Given the description of an element on the screen output the (x, y) to click on. 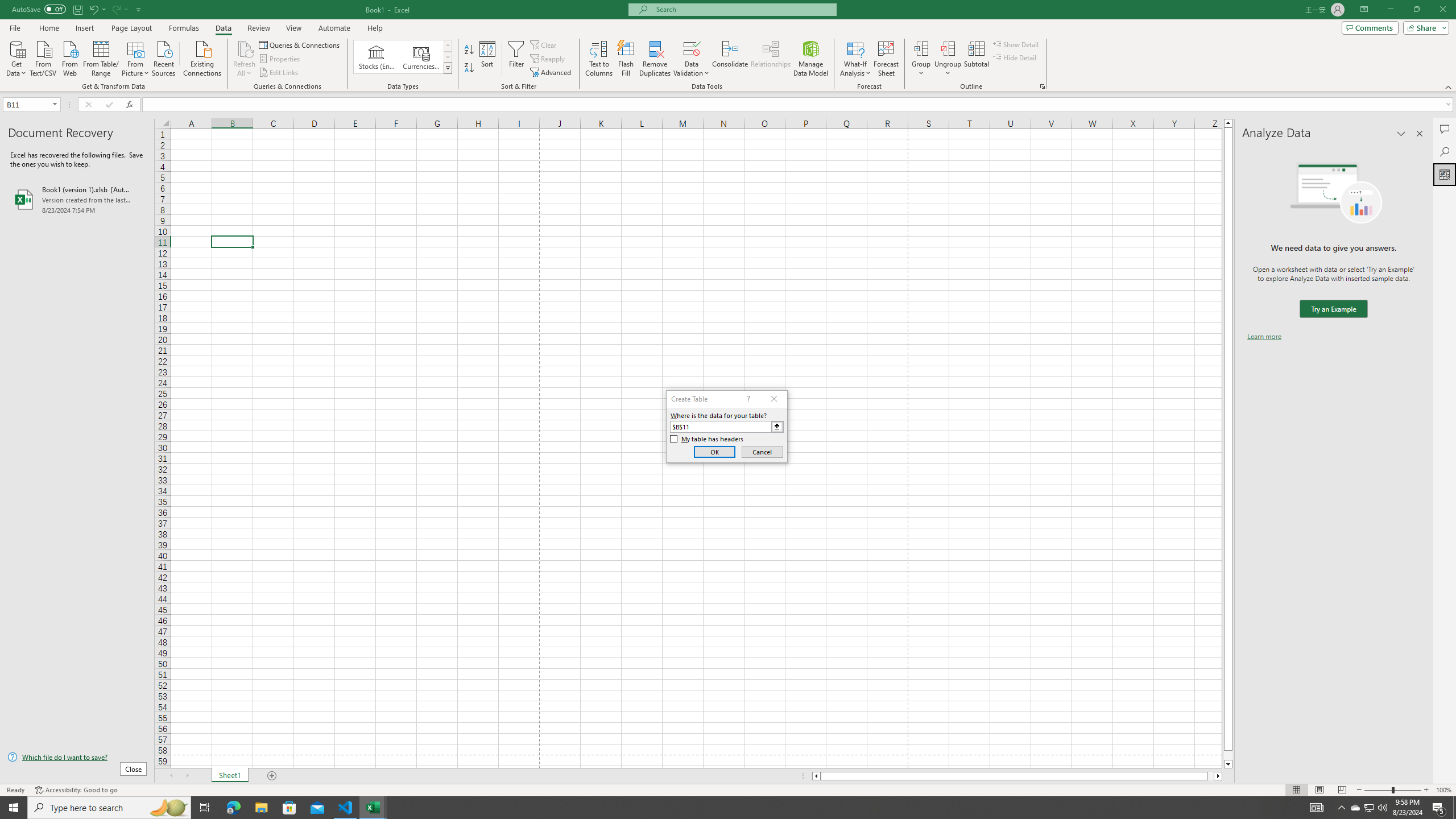
Consolidate... (729, 58)
